Given the description of an element on the screen output the (x, y) to click on. 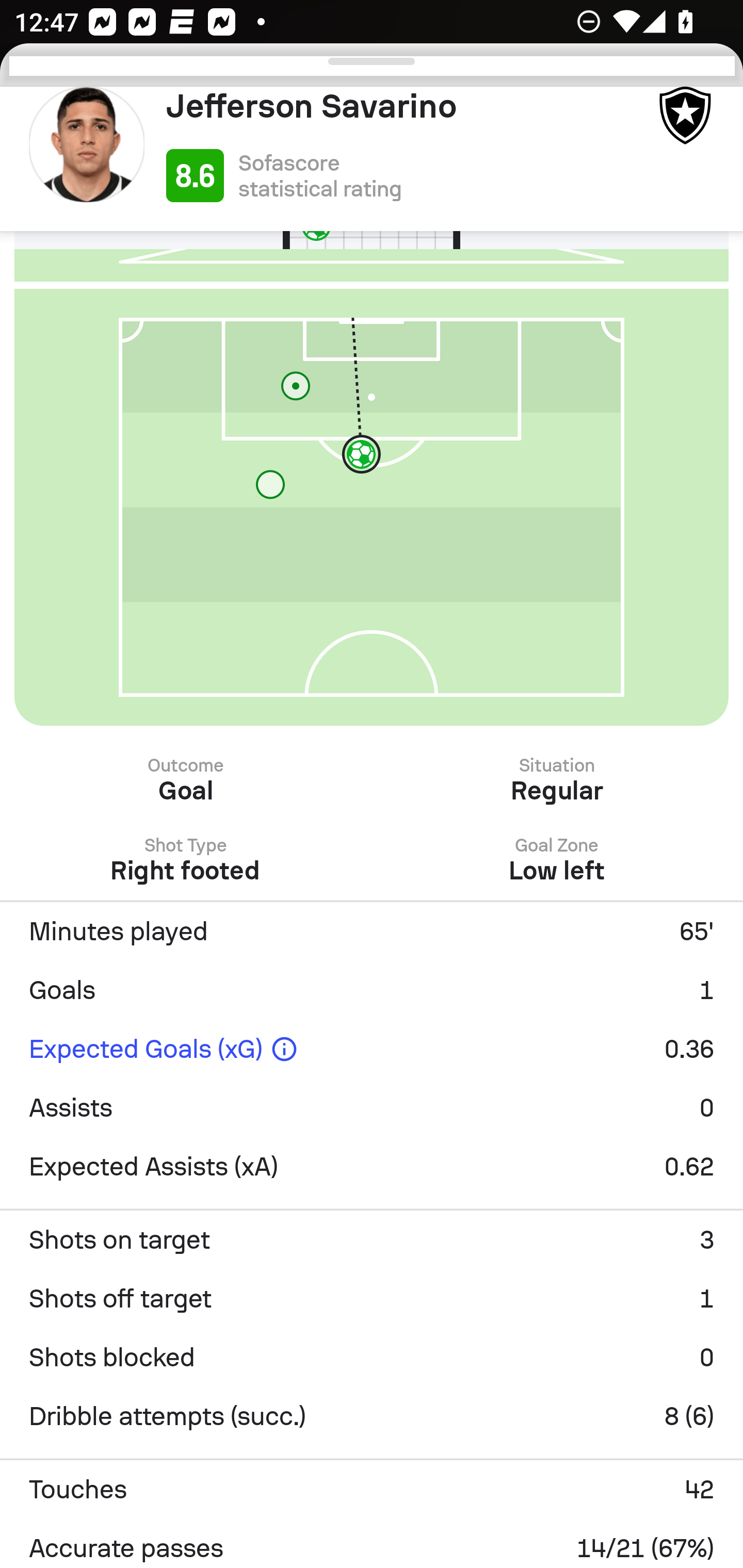
Jefferson Savarino (403, 105)
Minutes played 65' (371, 931)
Goals 1 (371, 990)
Expected Goals (xG) 0.36 (371, 1048)
Assists 0 (371, 1107)
Expected Assists (xA) 0.62 (371, 1166)
Shots on target 3 (371, 1240)
Shots off target 1 (371, 1299)
Shots blocked 0 (371, 1357)
Dribble attempts (succ.) 8 (6) (371, 1416)
Touches 42 (371, 1489)
Accurate passes 14/21 (67%) (371, 1543)
